Given the description of an element on the screen output the (x, y) to click on. 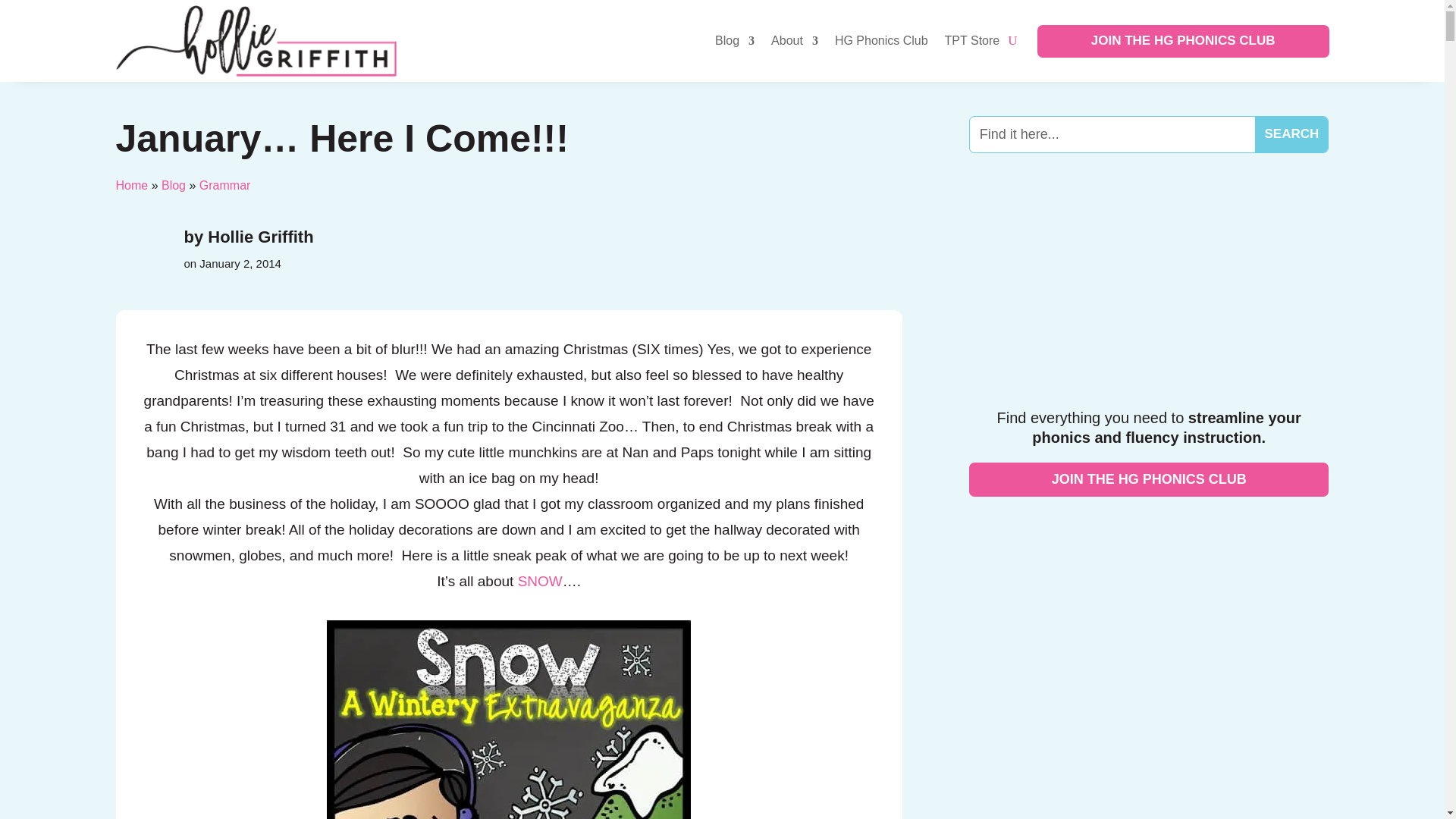
JOIN THE HG PHONICS CLUB (1182, 41)
Home (131, 185)
SNOW (540, 580)
Grammar (224, 185)
Search (1291, 134)
Search (1291, 134)
HG Phonics Club (881, 40)
Blog (173, 185)
HG Phonics Club (1149, 287)
